Given the description of an element on the screen output the (x, y) to click on. 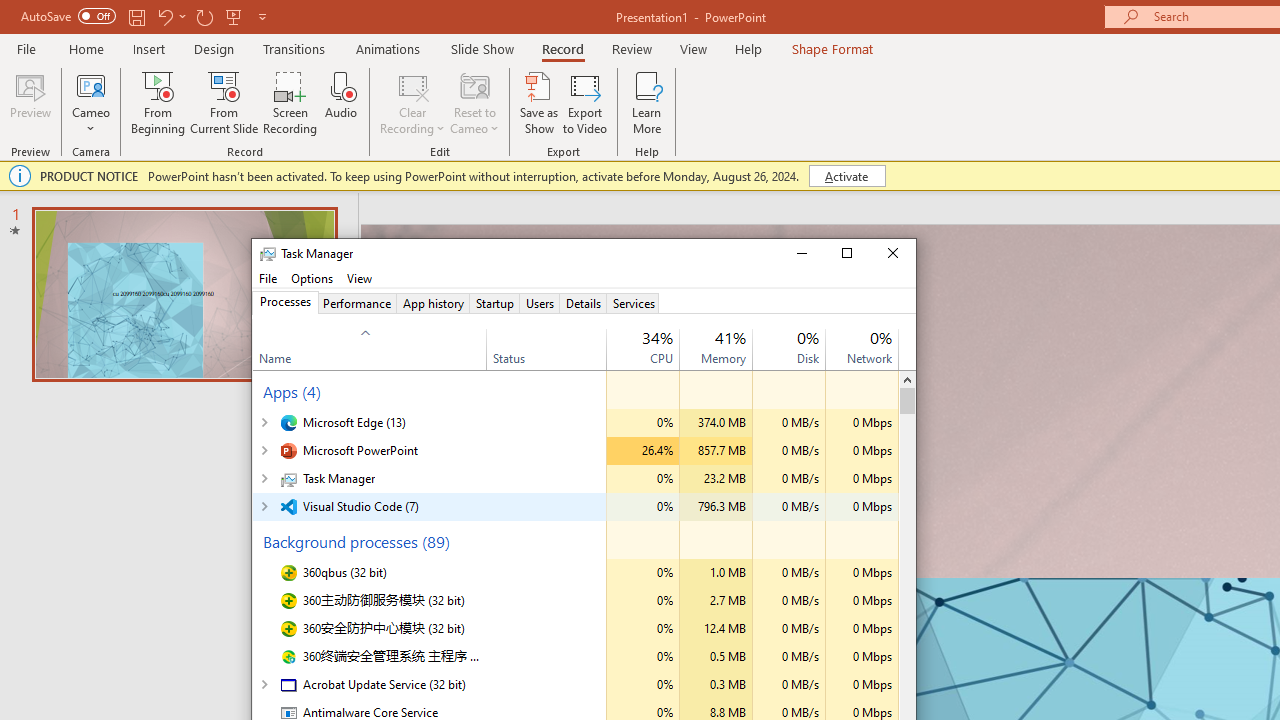
Disk (788, 685)
0% (880, 336)
Network (861, 685)
CPU (642, 685)
Processes (285, 303)
25% (657, 336)
Memory (715, 685)
Options (312, 278)
Details (583, 303)
AutomationID: TmColStatusText (490, 685)
Startup (494, 303)
File (268, 278)
